Given the description of an element on the screen output the (x, y) to click on. 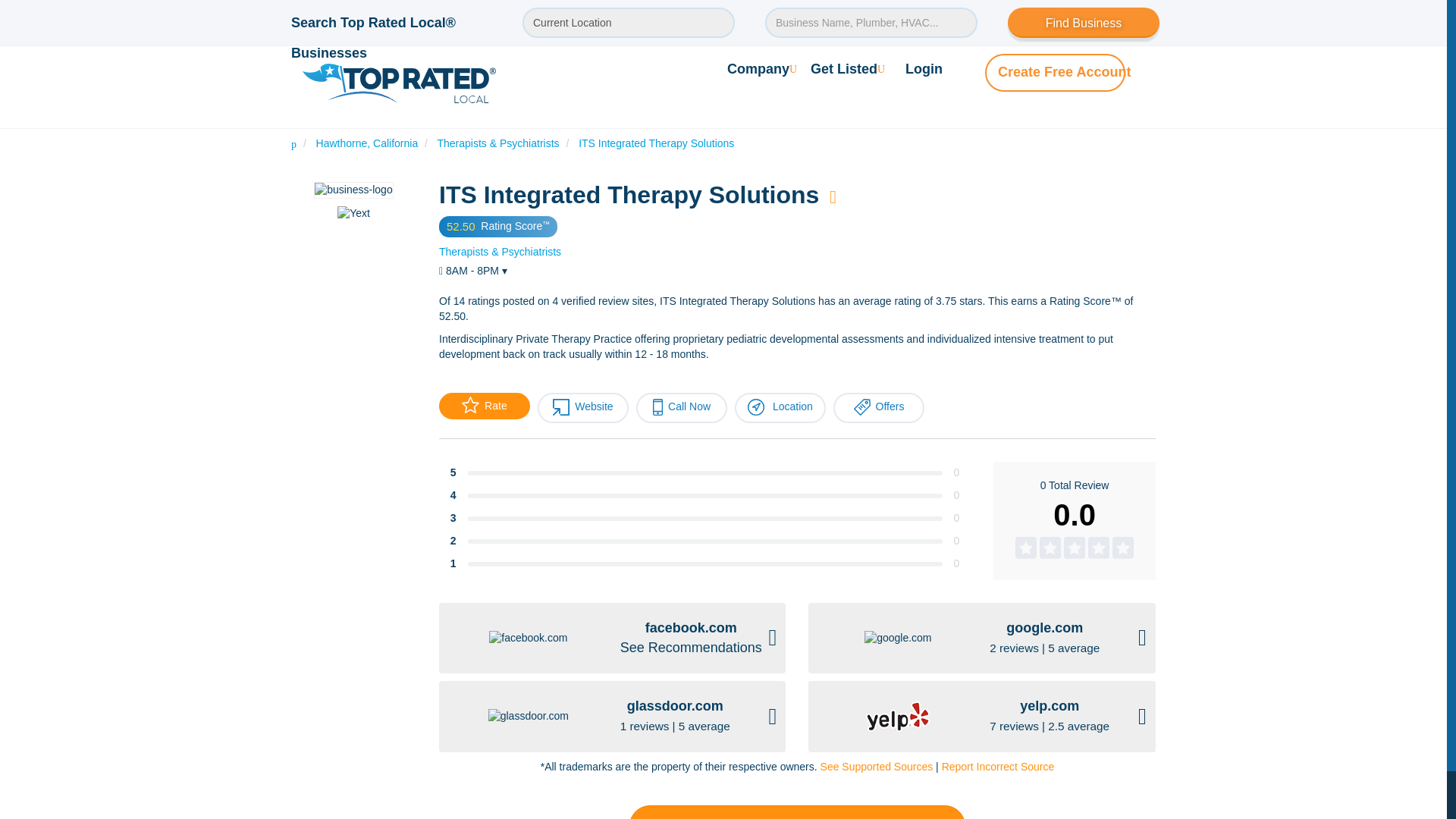
Find Business (1082, 22)
Home (294, 143)
Hawthorne, California (367, 143)
Current Location (628, 22)
Login (923, 68)
Company (761, 68)
Current Location (628, 22)
Website (582, 408)
Get Listed (847, 68)
ITS Integrated Therapy Solutions (655, 143)
Create Free Account (1064, 70)
Rate (484, 406)
